Given the description of an element on the screen output the (x, y) to click on. 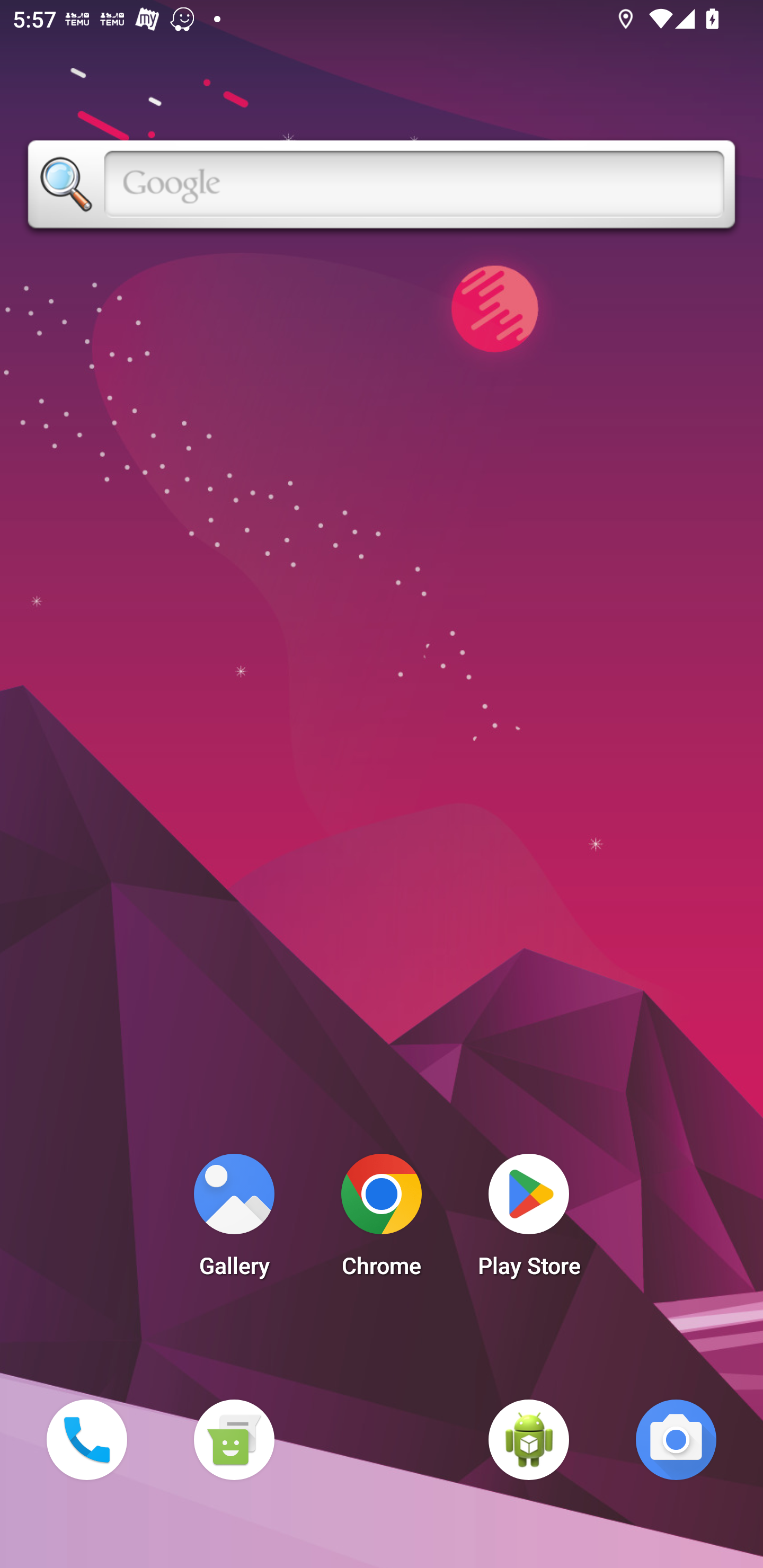
Gallery (233, 1220)
Chrome (381, 1220)
Play Store (528, 1220)
Phone (86, 1439)
Messaging (233, 1439)
WebView Browser Tester (528, 1439)
Camera (676, 1439)
